Given the description of an element on the screen output the (x, y) to click on. 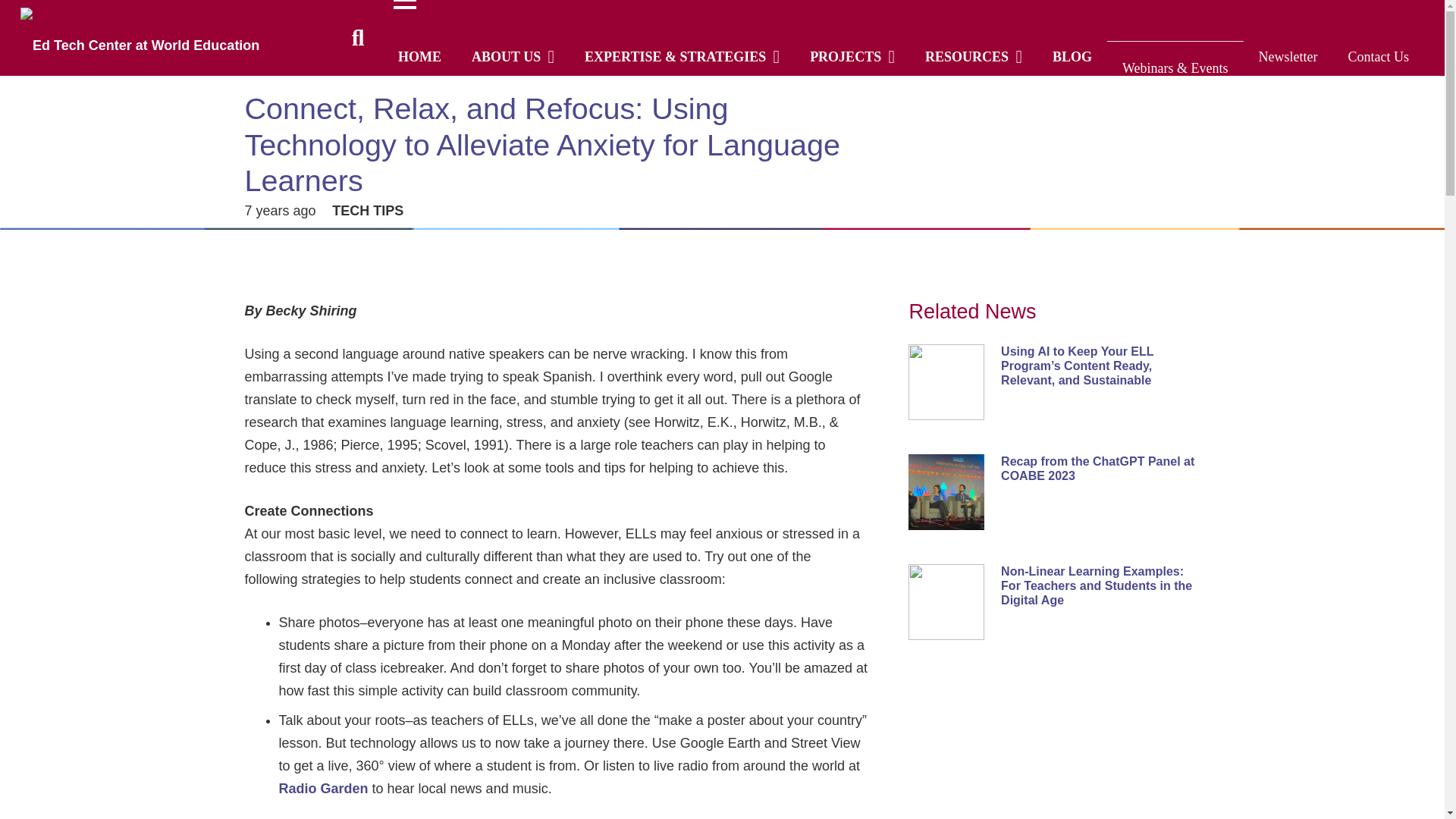
HOME (419, 56)
Radio Garden (323, 788)
Contact Us (1379, 56)
ABOUT US (513, 56)
PROJECTS (852, 56)
RESOURCES (973, 56)
BLOG (1071, 56)
Newsletter (1288, 56)
